Given the description of an element on the screen output the (x, y) to click on. 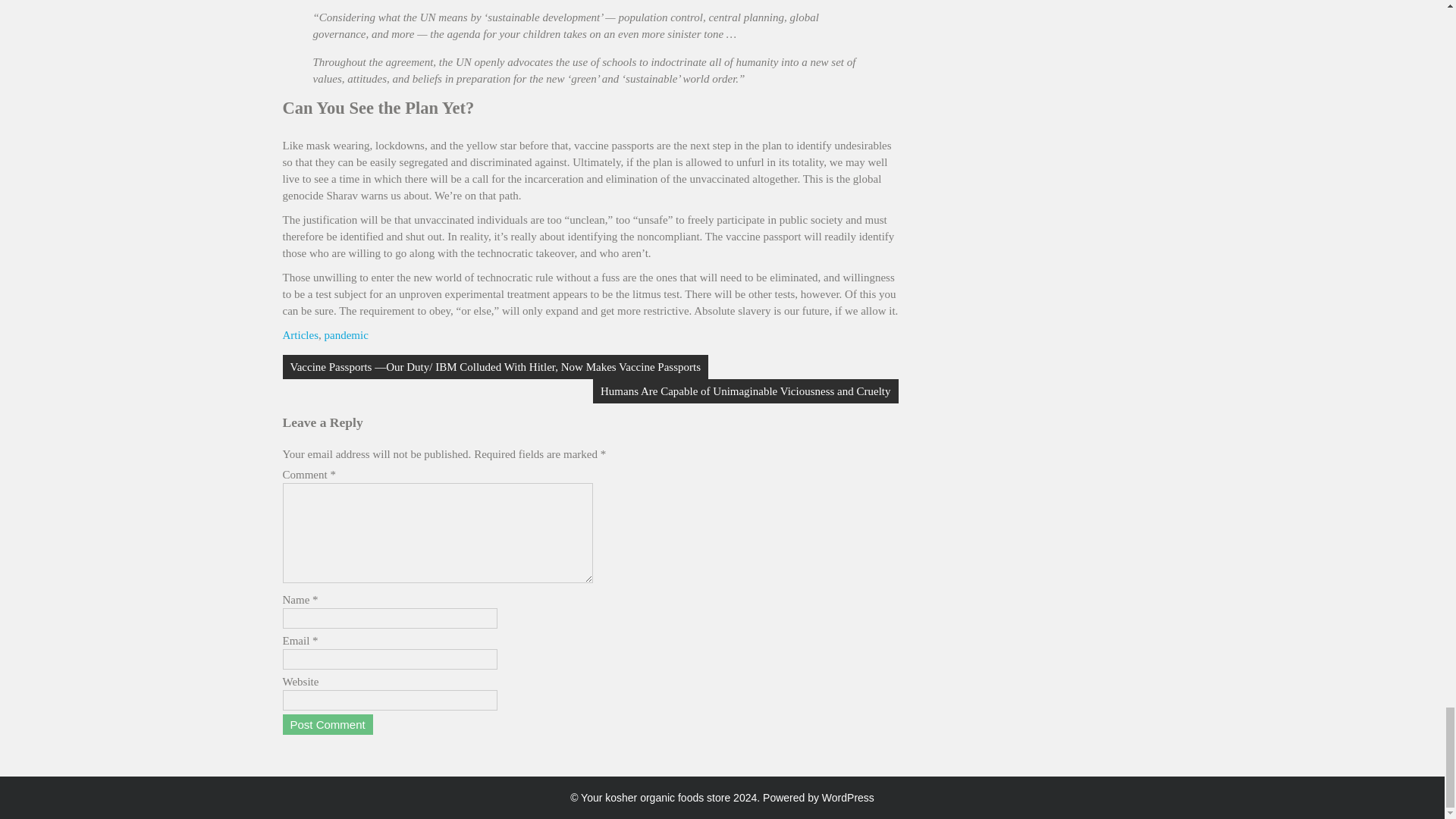
Post Comment (327, 724)
pandemic (345, 335)
Post Comment (327, 724)
Humans Are Capable of Unimaginable Viciousness and Cruelty (745, 391)
Articles (299, 335)
